Given the description of an element on the screen output the (x, y) to click on. 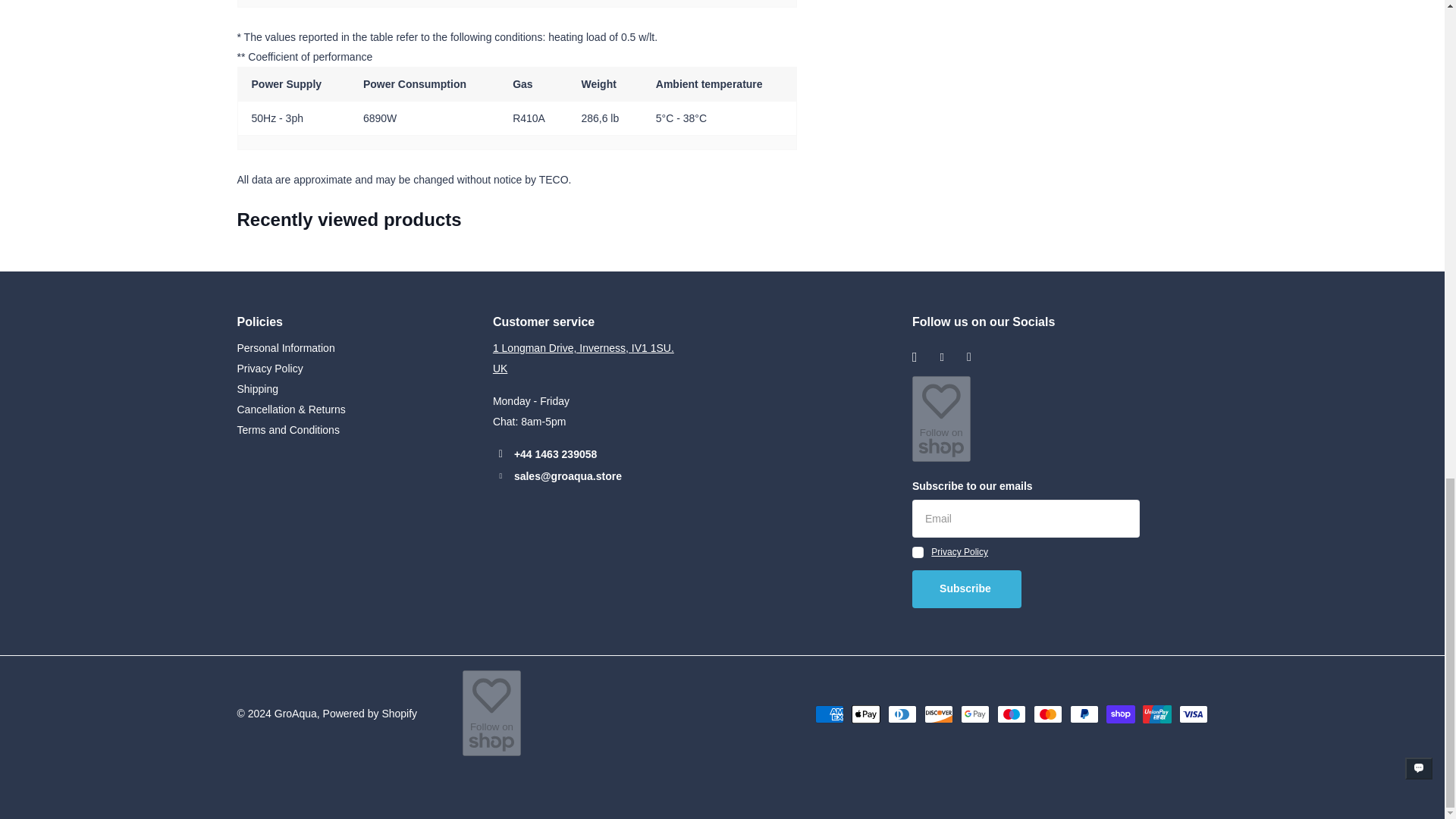
Diners Club (900, 714)
PayPal (1082, 714)
Visa (1192, 714)
Union Pay (1155, 714)
Privacy Policy (268, 368)
American Express (828, 714)
Shipping (256, 388)
Mastercard (1046, 714)
Shop Pay (1119, 714)
Apple Pay (864, 714)
